Given the description of an element on the screen output the (x, y) to click on. 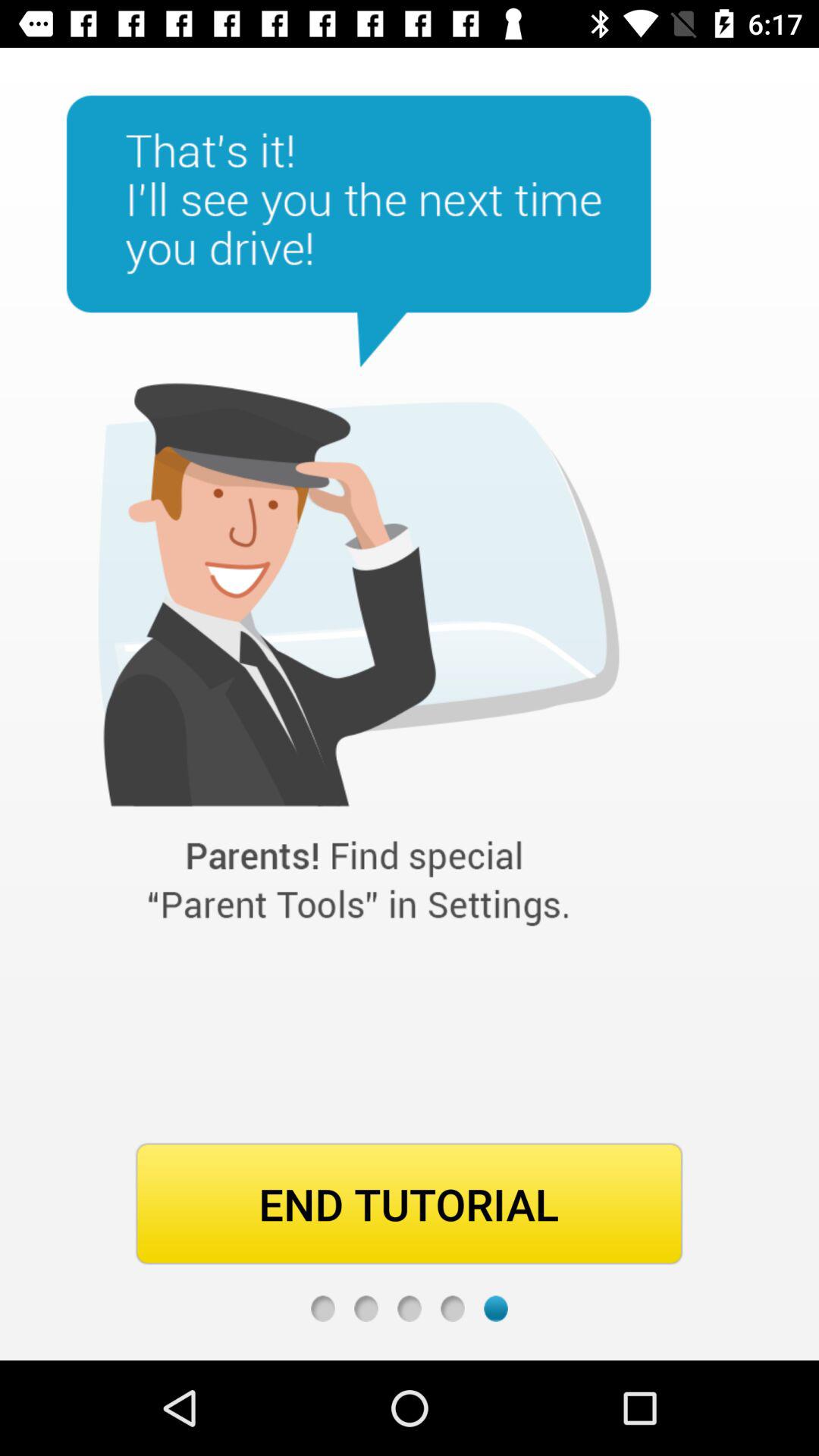
second page (366, 1308)
